Given the description of an element on the screen output the (x, y) to click on. 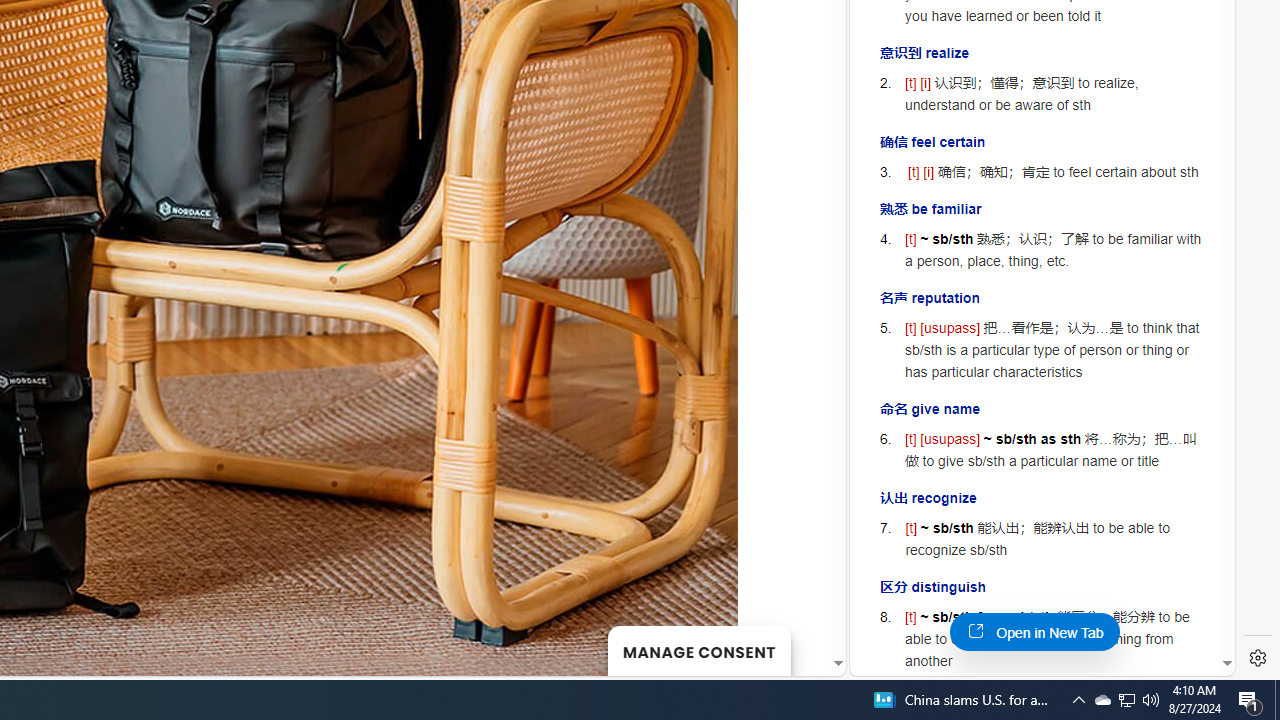
MANAGE CONSENT (698, 650)
